Given the description of an element on the screen output the (x, y) to click on. 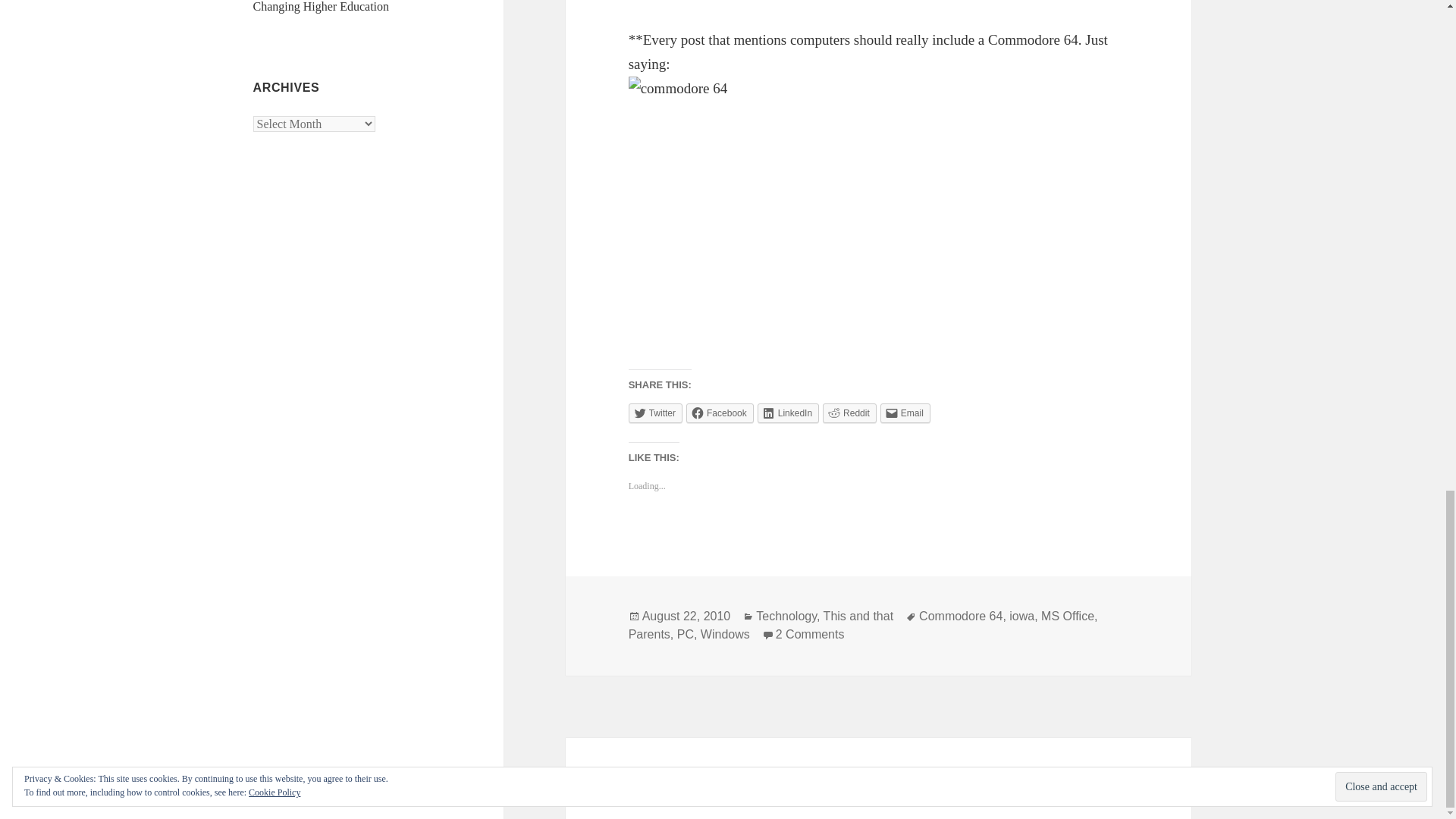
This and that (858, 616)
Click to share on LinkedIn (787, 413)
iowa (1021, 616)
commodore 64 (840, 210)
Click to share on Facebook (719, 413)
Reddit (849, 413)
LinkedIn (787, 413)
Commodore 64 (960, 616)
Click to share on Reddit (849, 413)
Technology (785, 616)
